Given the description of an element on the screen output the (x, y) to click on. 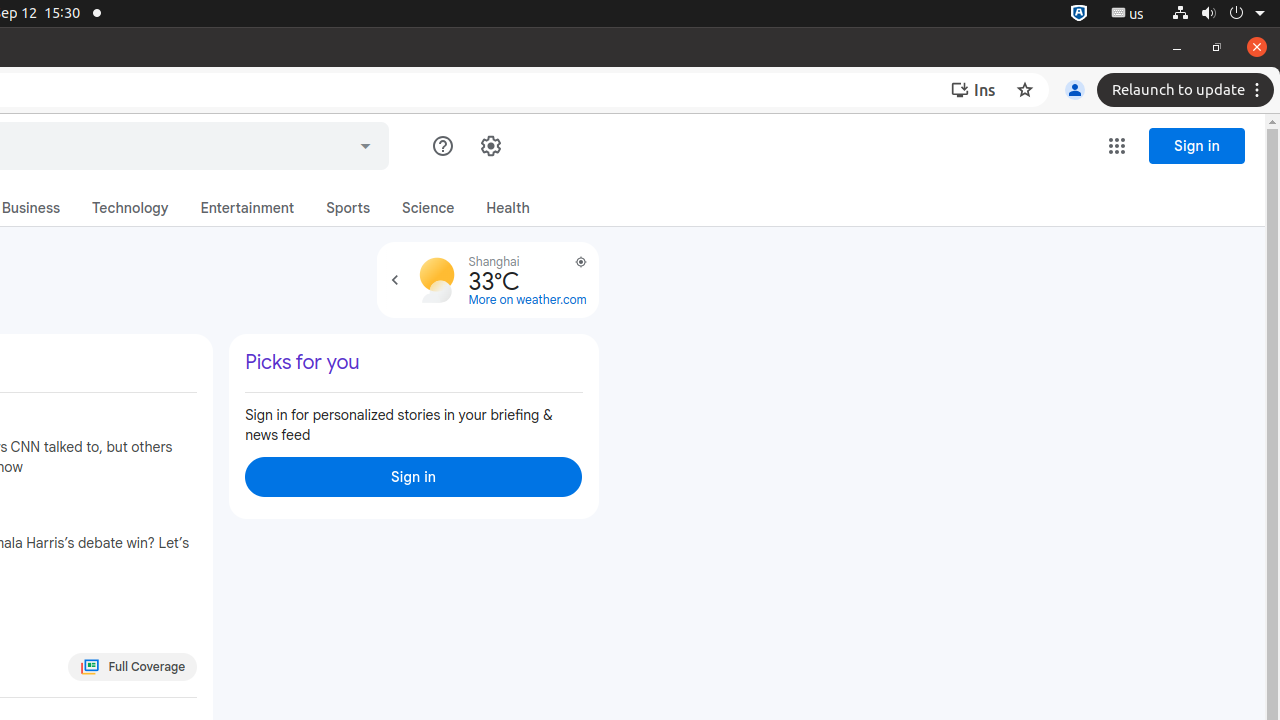
Health Element type: menu-item (508, 208)
Relaunch to update Element type: push-button (1188, 90)
More - Analysis | How resounding was Kamala Harris’s debate win? Let’s look at the polls. Element type: push-button (191, 522)
:1.21/StatusNotifierItem Element type: menu (1127, 13)
Entertainment Element type: menu-item (247, 208)
